Given the description of an element on the screen output the (x, y) to click on. 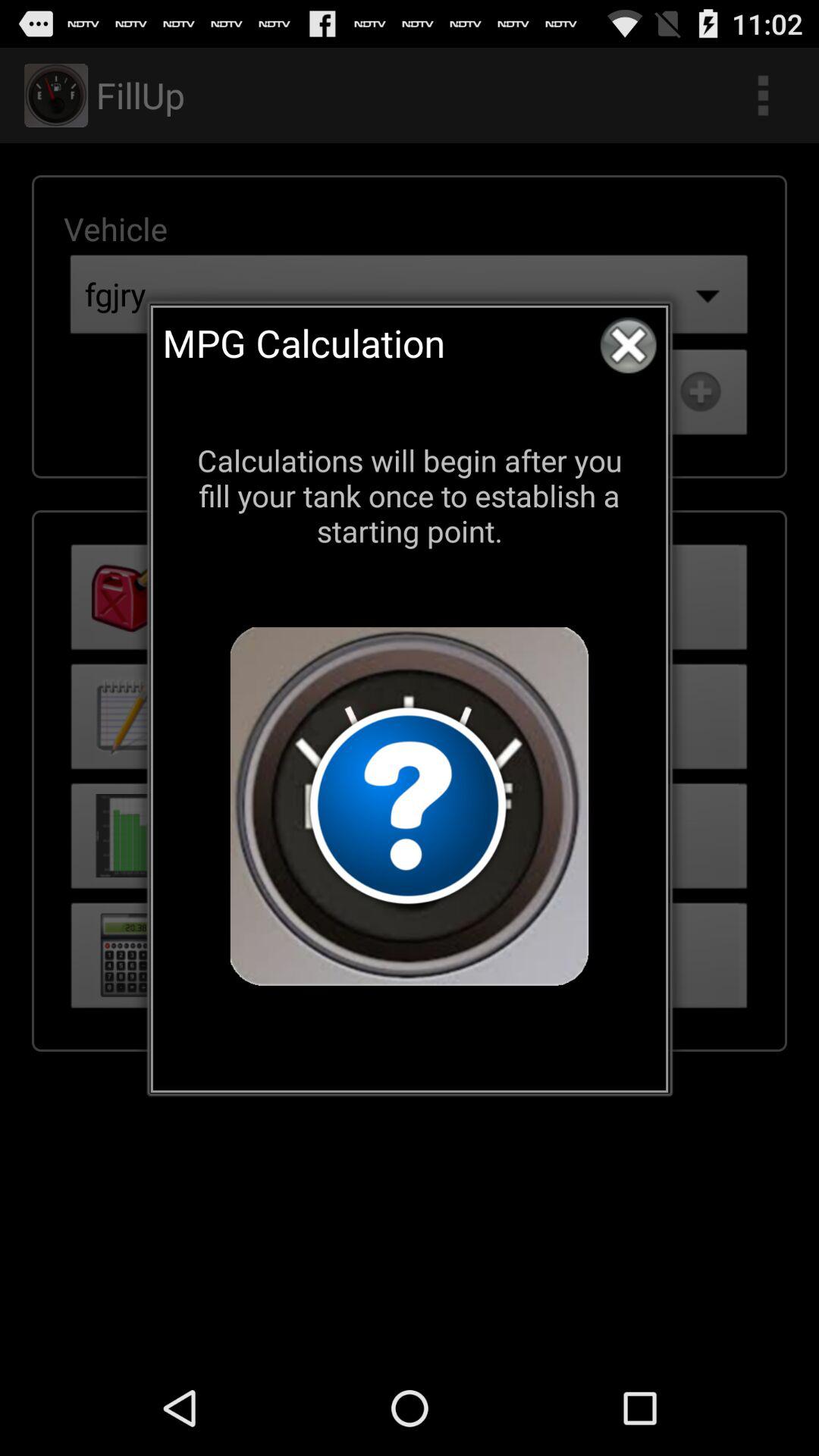
choose the icon next to mpg calculation (628, 345)
